Given the description of an element on the screen output the (x, y) to click on. 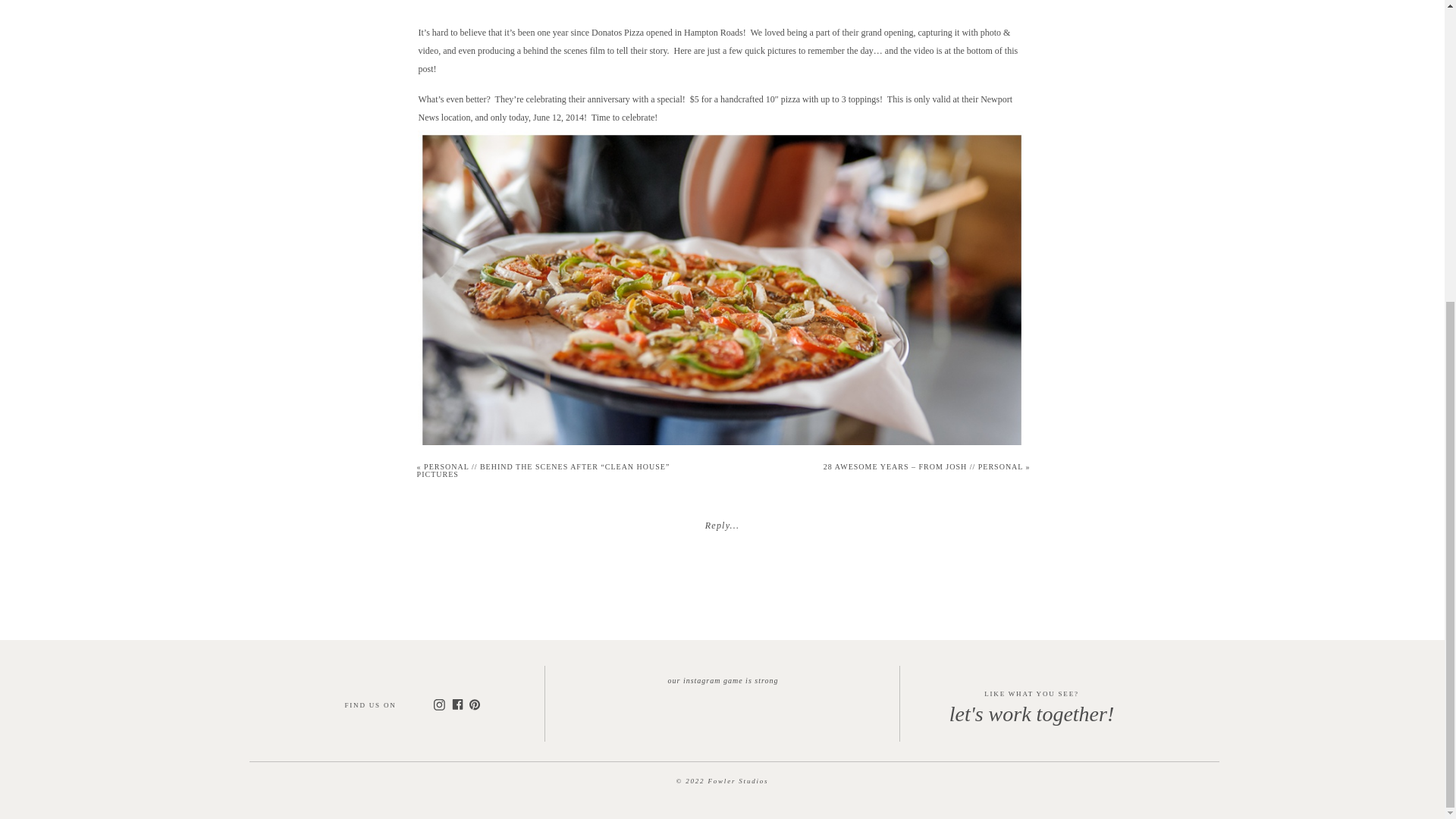
LIKE WHAT YOU SEE? (1032, 696)
FIND US ON (386, 704)
Facebook Copy-color Created with Sketch. (457, 704)
let's work together! (1031, 718)
Instagram-color Created with Sketch. (438, 704)
our instagram game is strong (722, 679)
Instagram-color Created with Sketch. (438, 704)
Facebook Copy-color Created with Sketch. (457, 704)
